Given the description of an element on the screen output the (x, y) to click on. 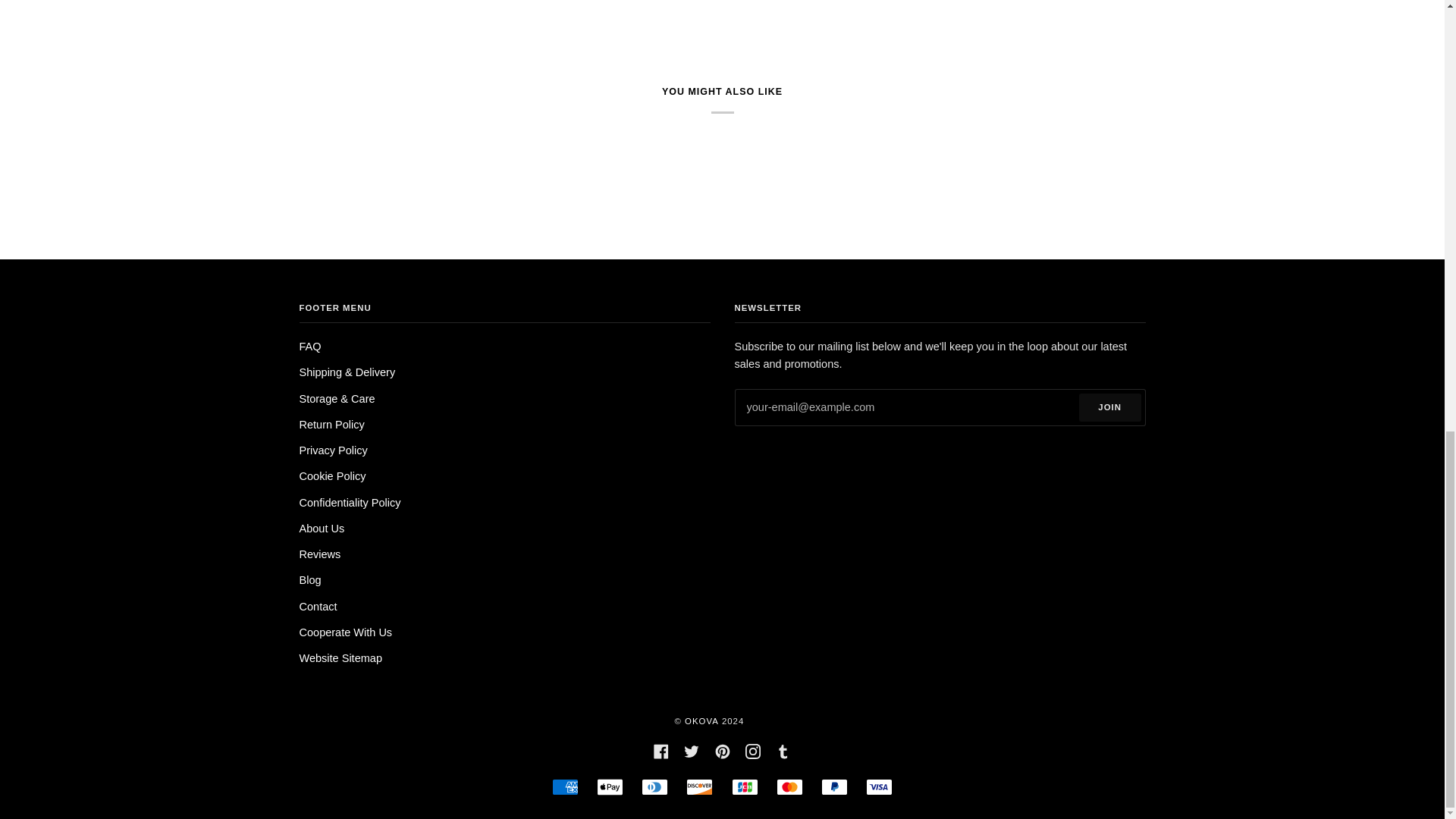
DISCOVER (699, 786)
AMERICAN EXPRESS (564, 786)
PAYPAL (834, 786)
DINERS CLUB (655, 786)
MASTERCARD (789, 786)
Twitter (691, 750)
VISA (879, 786)
Instagram (752, 750)
Tumblr (783, 750)
Pinterest (721, 750)
